Given the description of an element on the screen output the (x, y) to click on. 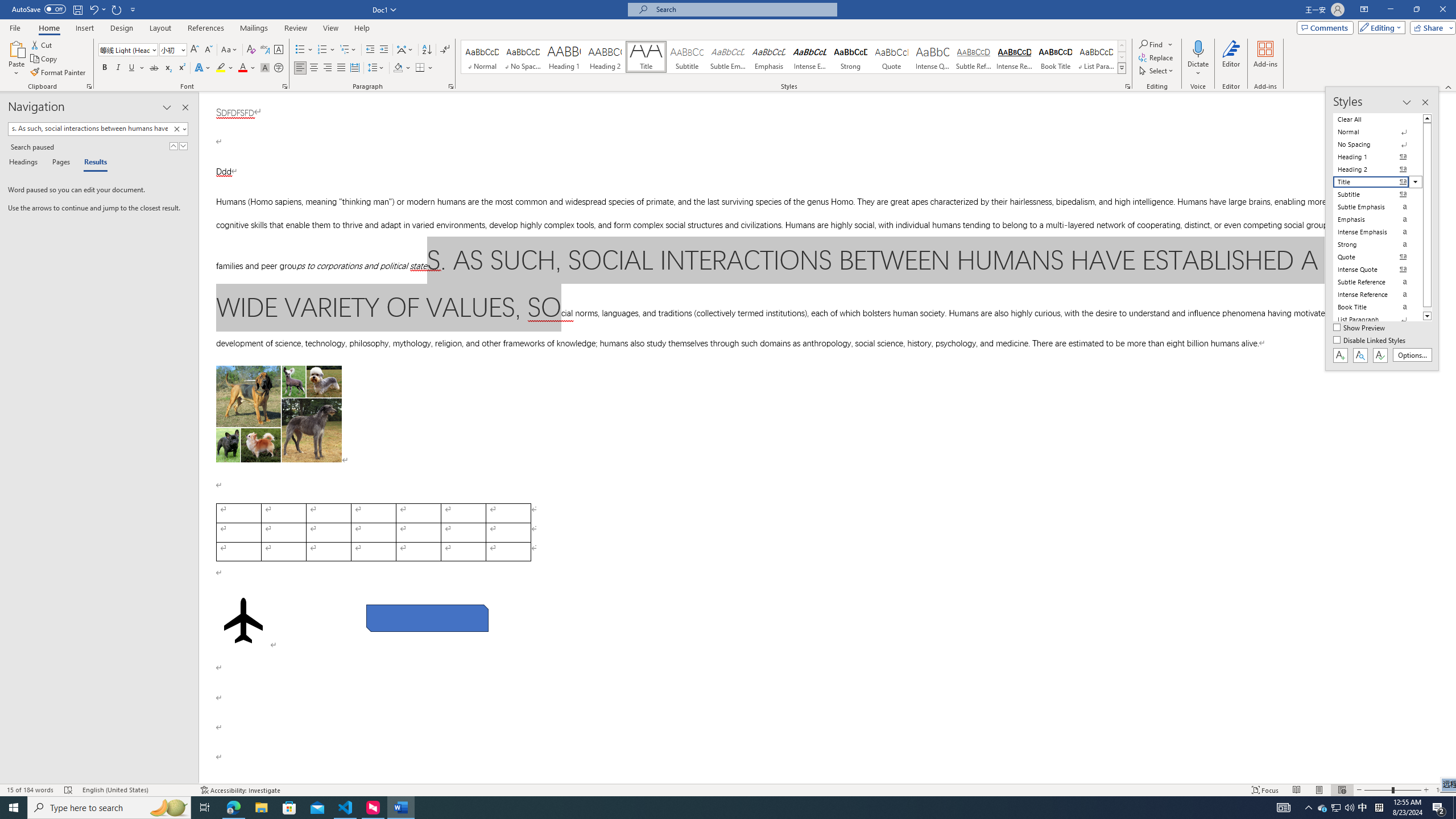
Intense Quote (932, 56)
